Given the description of an element on the screen output the (x, y) to click on. 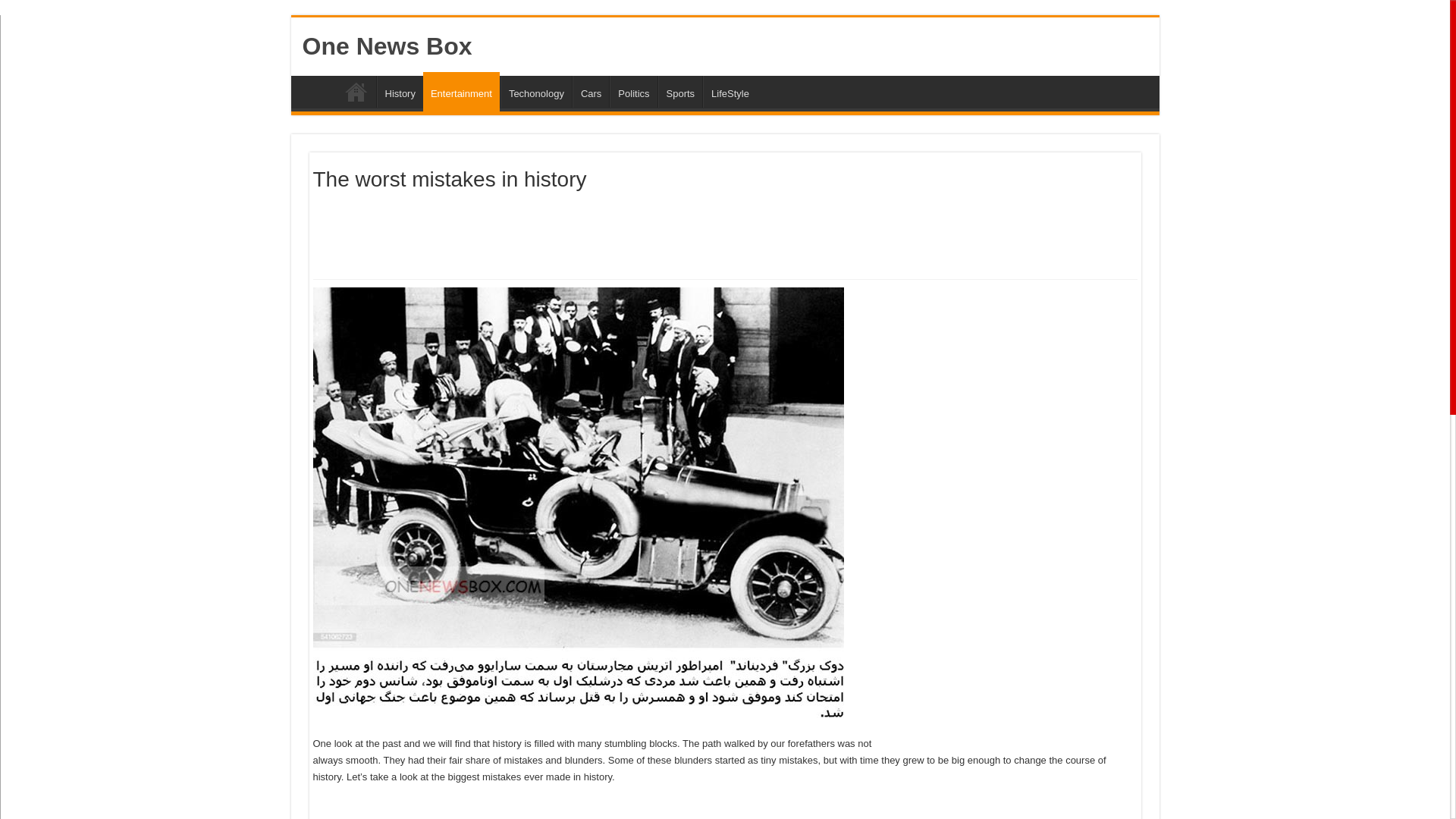
One News Box (386, 45)
Politics (633, 91)
Advertisement (588, 233)
Cars (590, 91)
Home (355, 91)
LifeStyle (730, 91)
History (398, 91)
Techonology (536, 91)
Entertainment (461, 91)
Sports (680, 91)
